Given the description of an element on the screen output the (x, y) to click on. 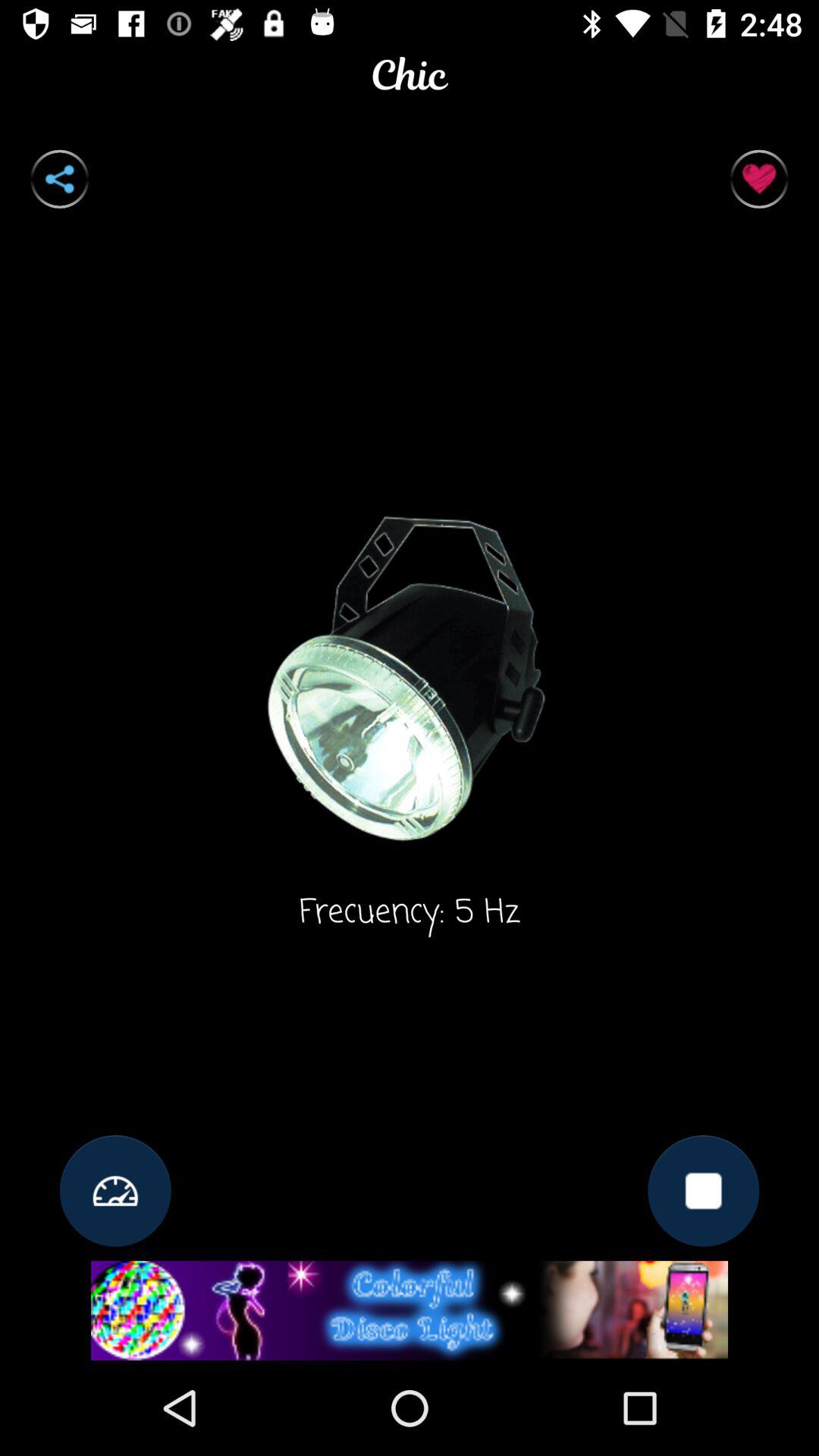
selct the button (759, 178)
